Given the description of an element on the screen output the (x, y) to click on. 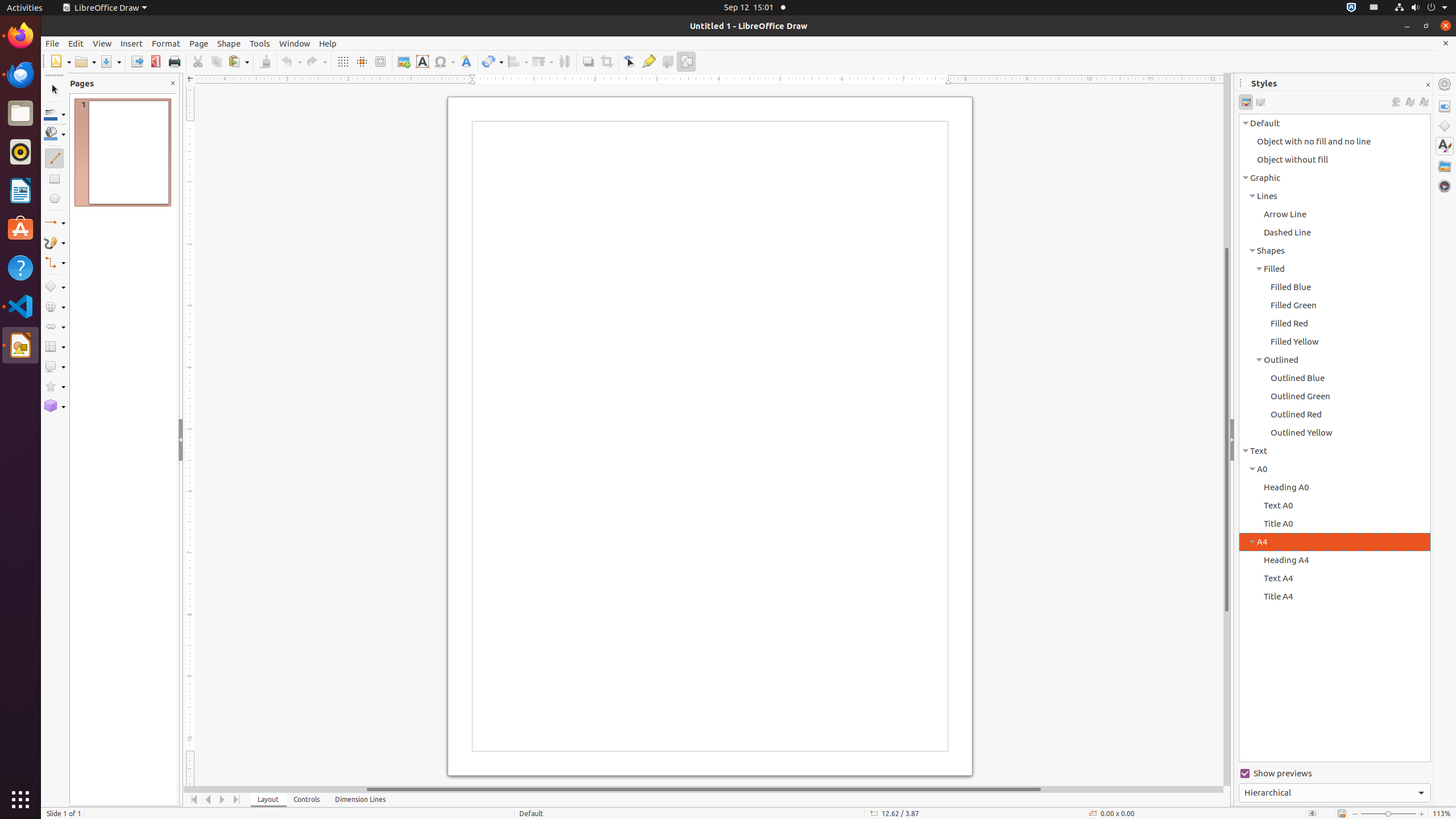
Move Left Element type: push-button (208, 799)
Dimension Lines Element type: page-tab (360, 799)
Distribution Element type: push-button (564, 61)
Controls Element type: page-tab (307, 799)
Undo Element type: push-button (290, 61)
